Given the description of an element on the screen output the (x, y) to click on. 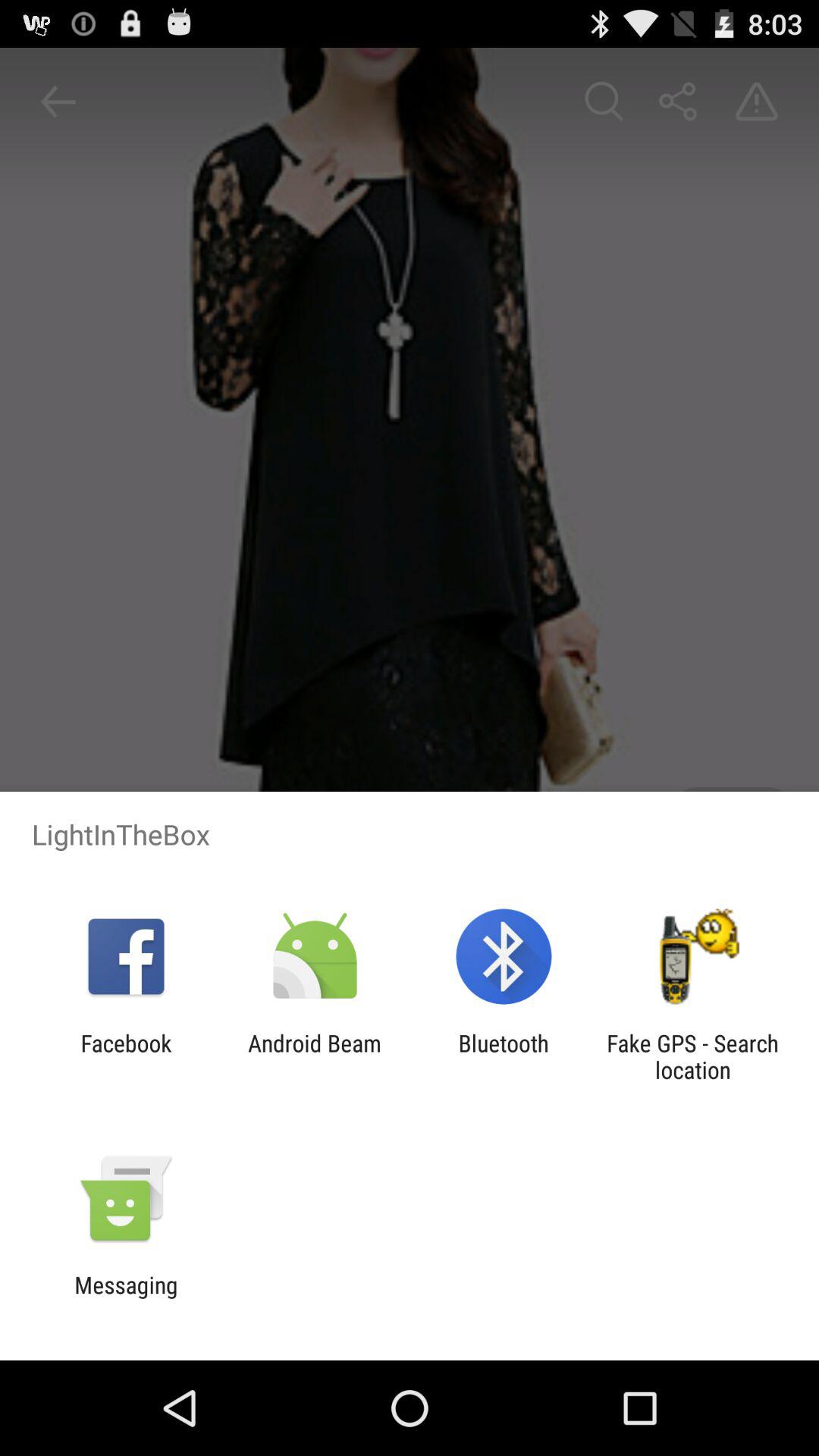
swipe until the messaging app (126, 1298)
